Given the description of an element on the screen output the (x, y) to click on. 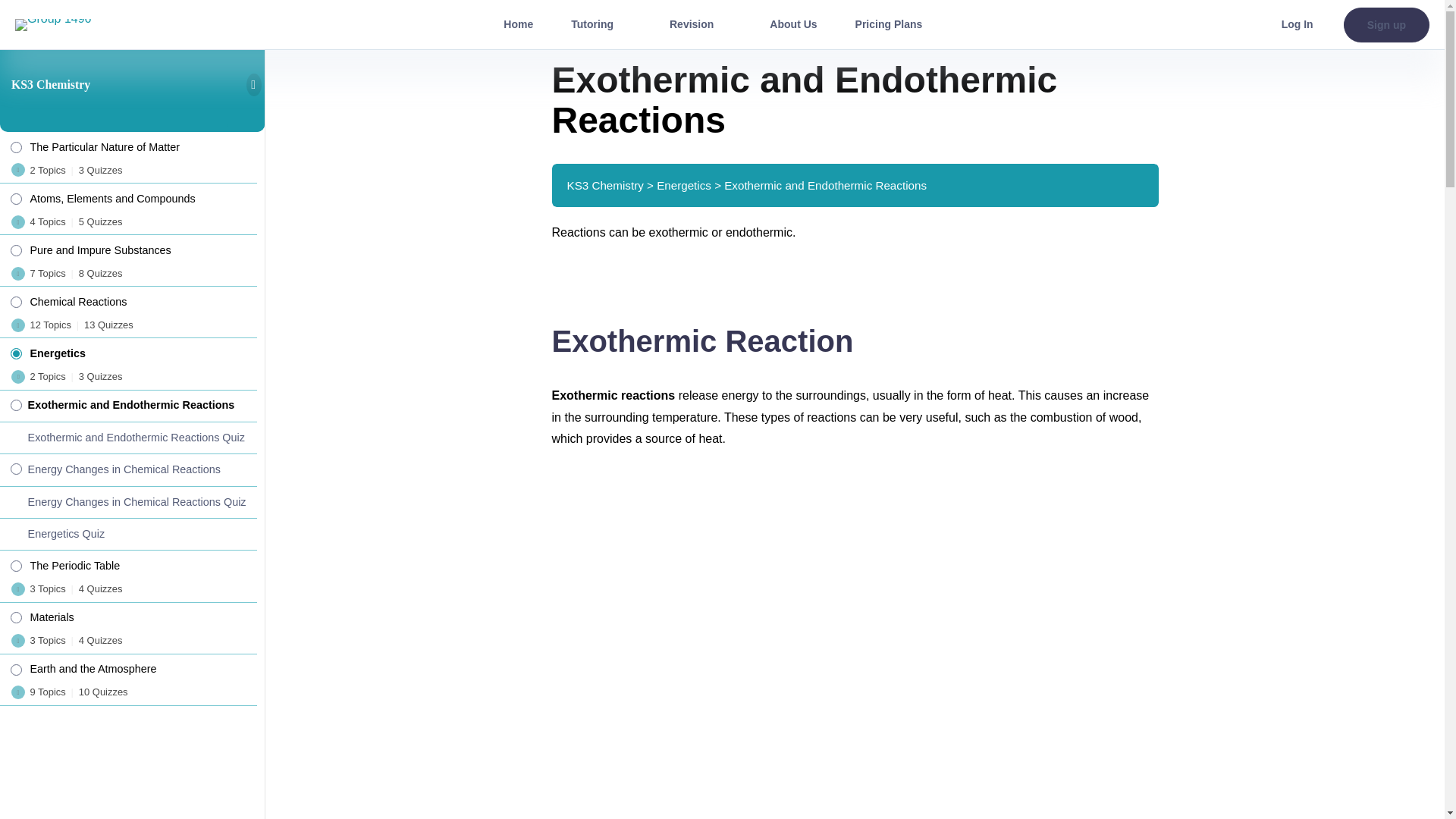
The Particular Nature of Matter (128, 144)
Chemical Reactions (128, 299)
Group 1496 (52, 24)
KS3 Chemistry (50, 83)
Pure and Impure Substances (128, 248)
Atoms, Elements and Compounds (128, 196)
